Given the description of an element on the screen output the (x, y) to click on. 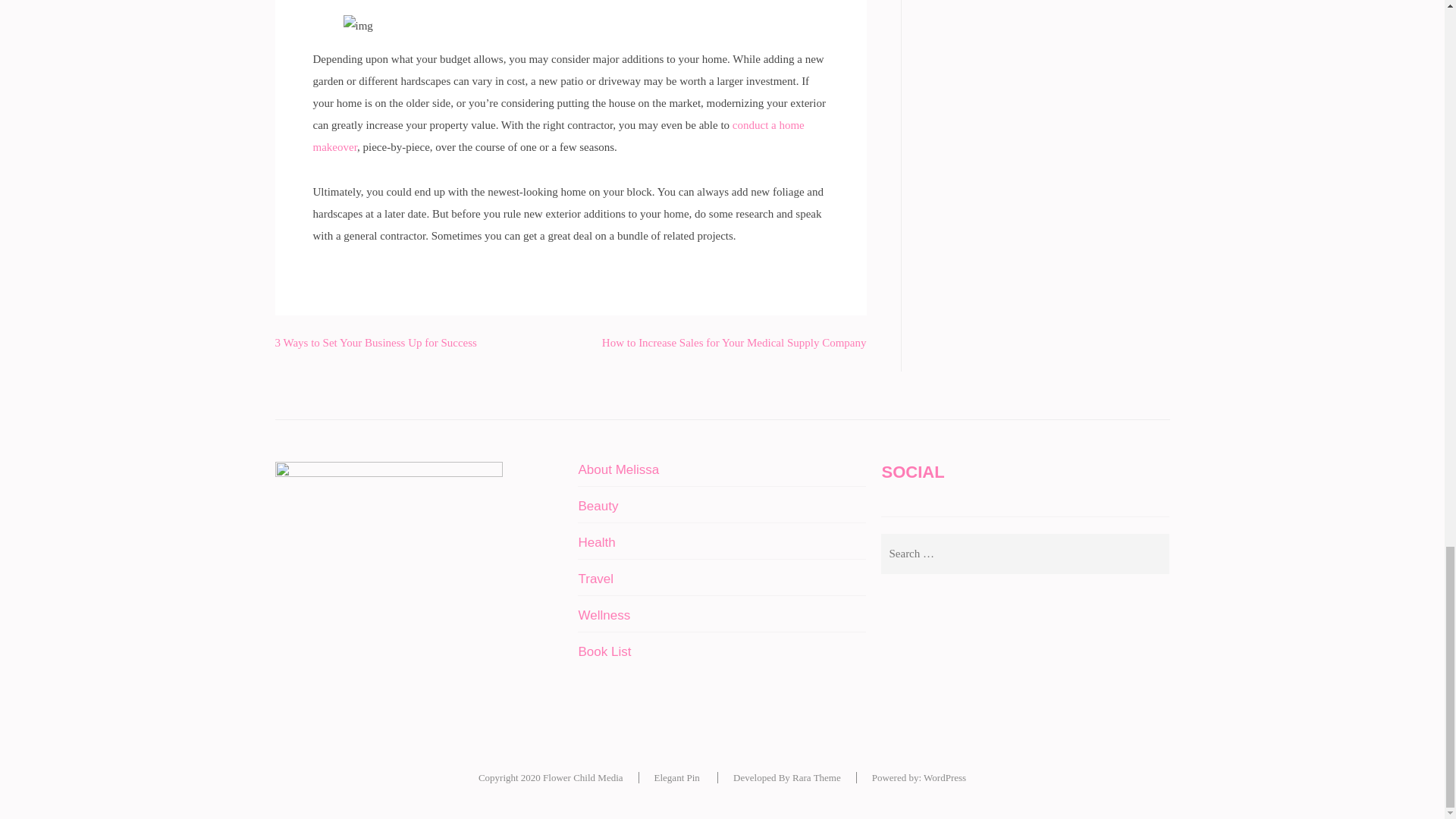
How to Increase Sales for Your Medical Supply Company (734, 342)
Search (1149, 554)
3 Ways to Set Your Business Up for Success (375, 342)
Search (1149, 554)
conduct a home makeover (558, 135)
